Given the description of an element on the screen output the (x, y) to click on. 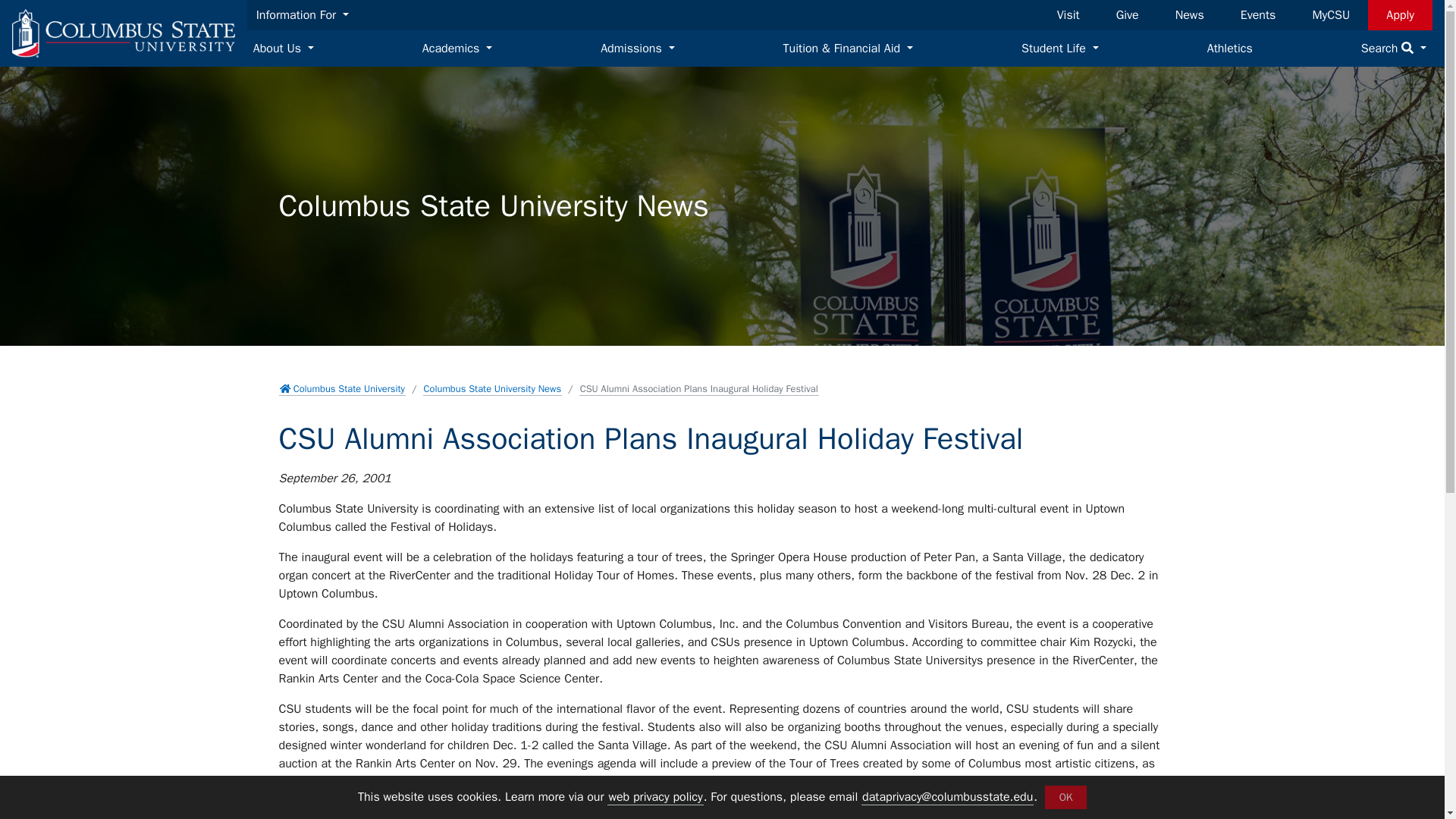
Events (1258, 15)
web privacy policy (655, 797)
Apply (1400, 15)
Columbus State University (122, 32)
News (1189, 15)
MyCSU (1330, 15)
Visit (1068, 15)
Give (1126, 15)
Information For (302, 15)
OK (1065, 797)
